Given the description of an element on the screen output the (x, y) to click on. 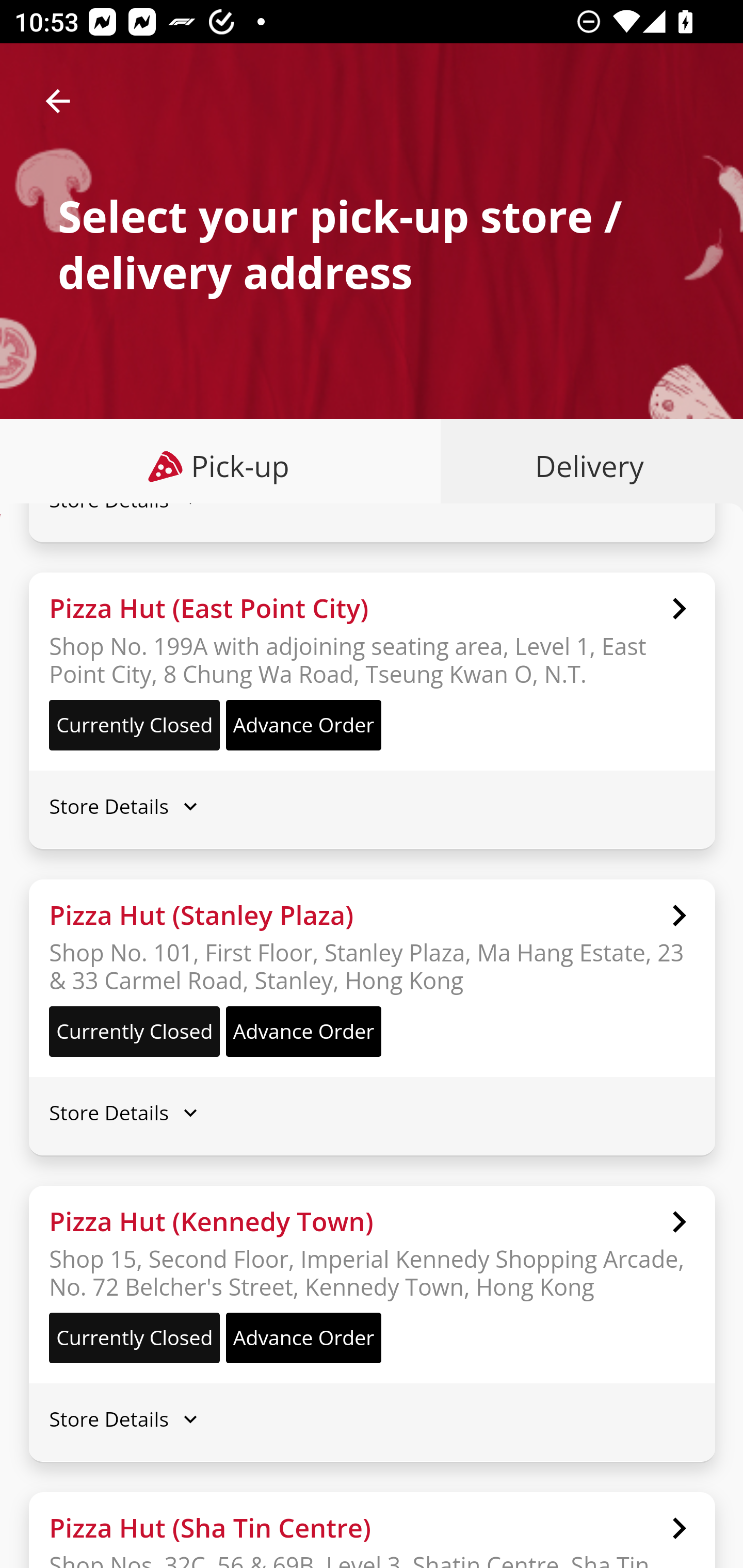
arrow_back (58, 100)
Store Details (371, 221)
Pick-up (221, 466)
Delivery (585, 466)
Store Details (371, 805)
Store Details (371, 1112)
Store Details (371, 1419)
